Given the description of an element on the screen output the (x, y) to click on. 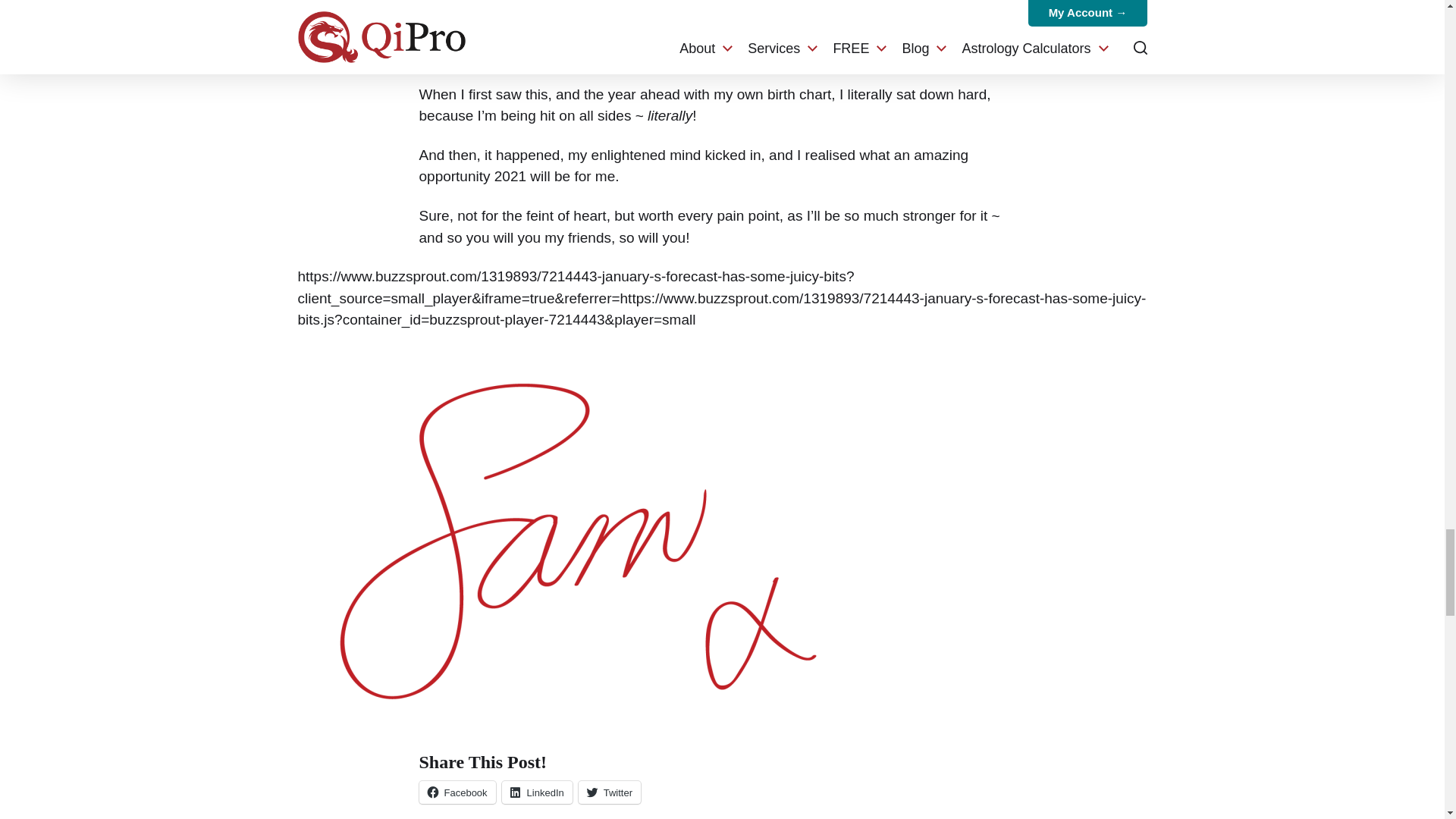
Click to share on Facebook (457, 792)
Click to share on Twitter (609, 792)
Click to share on LinkedIn (537, 792)
